Given the description of an element on the screen output the (x, y) to click on. 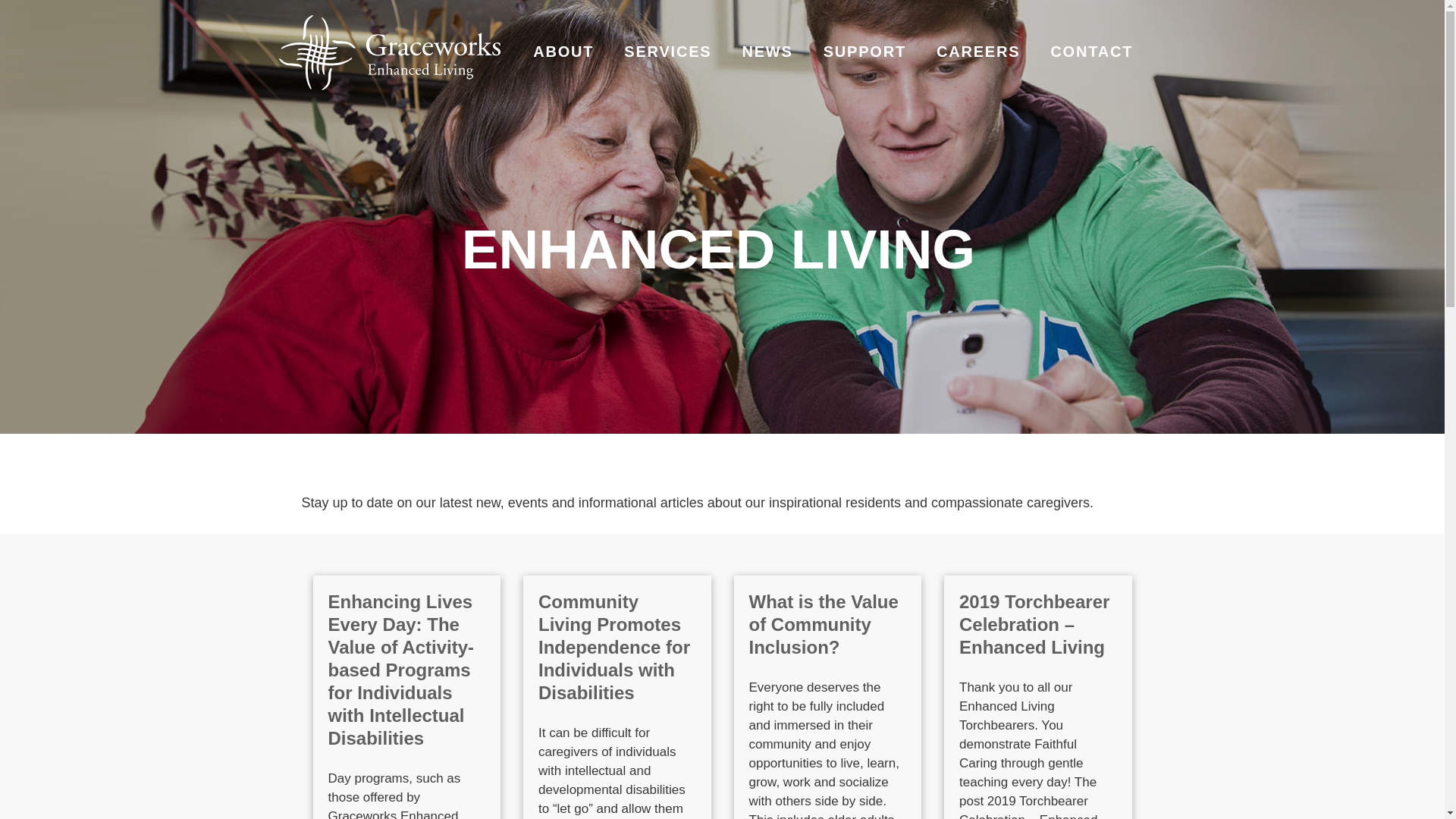
SUPPORT (864, 51)
SERVICES (667, 51)
What is the Value of Community Inclusion? (823, 624)
CONTACT (1090, 51)
ABOUT (563, 51)
What is the Value of Community Inclusion? (823, 624)
CAREERS (978, 51)
NEWS (766, 51)
